Given the description of an element on the screen output the (x, y) to click on. 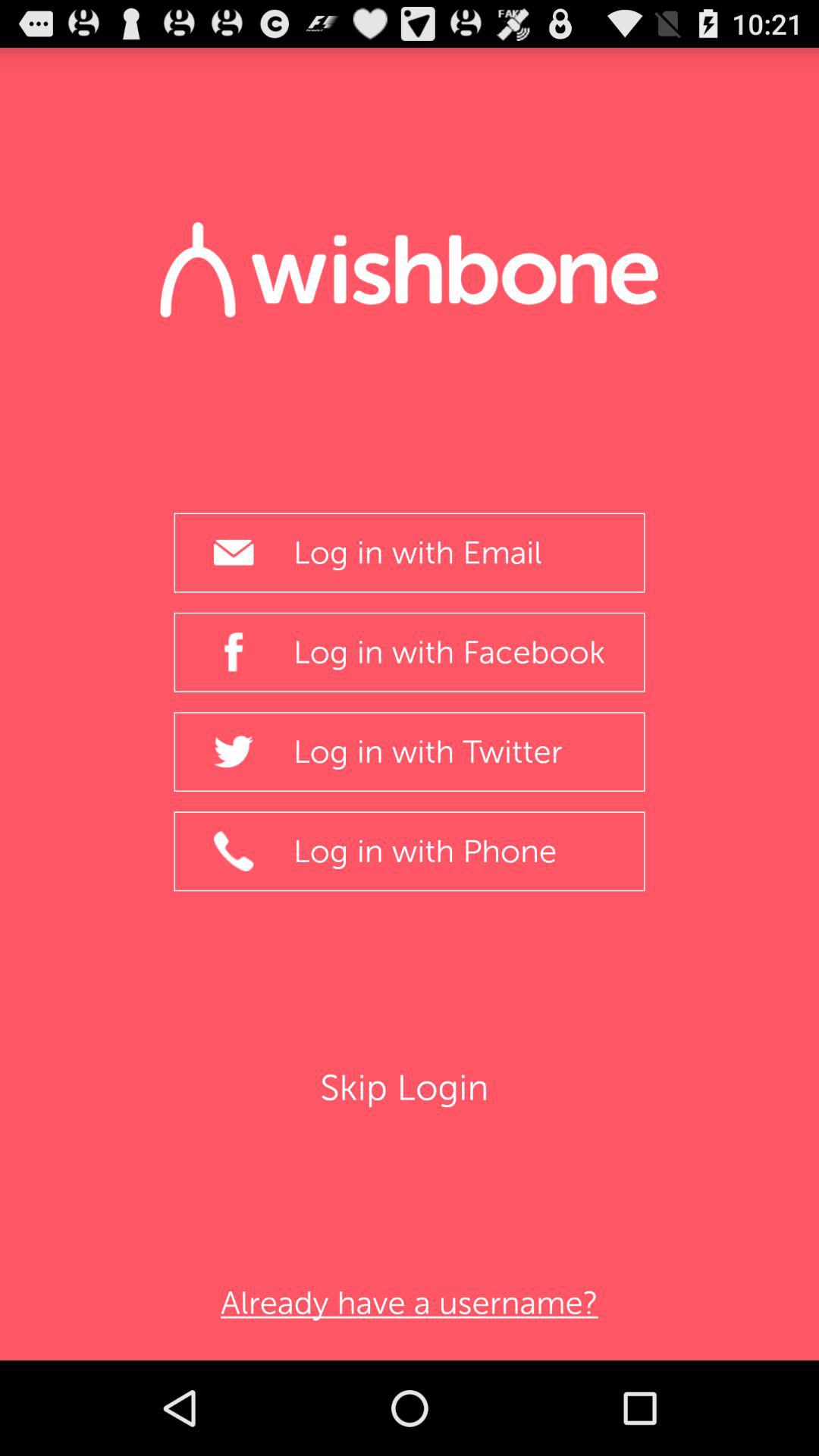
tap the item below the log in with (409, 1087)
